Given the description of an element on the screen output the (x, y) to click on. 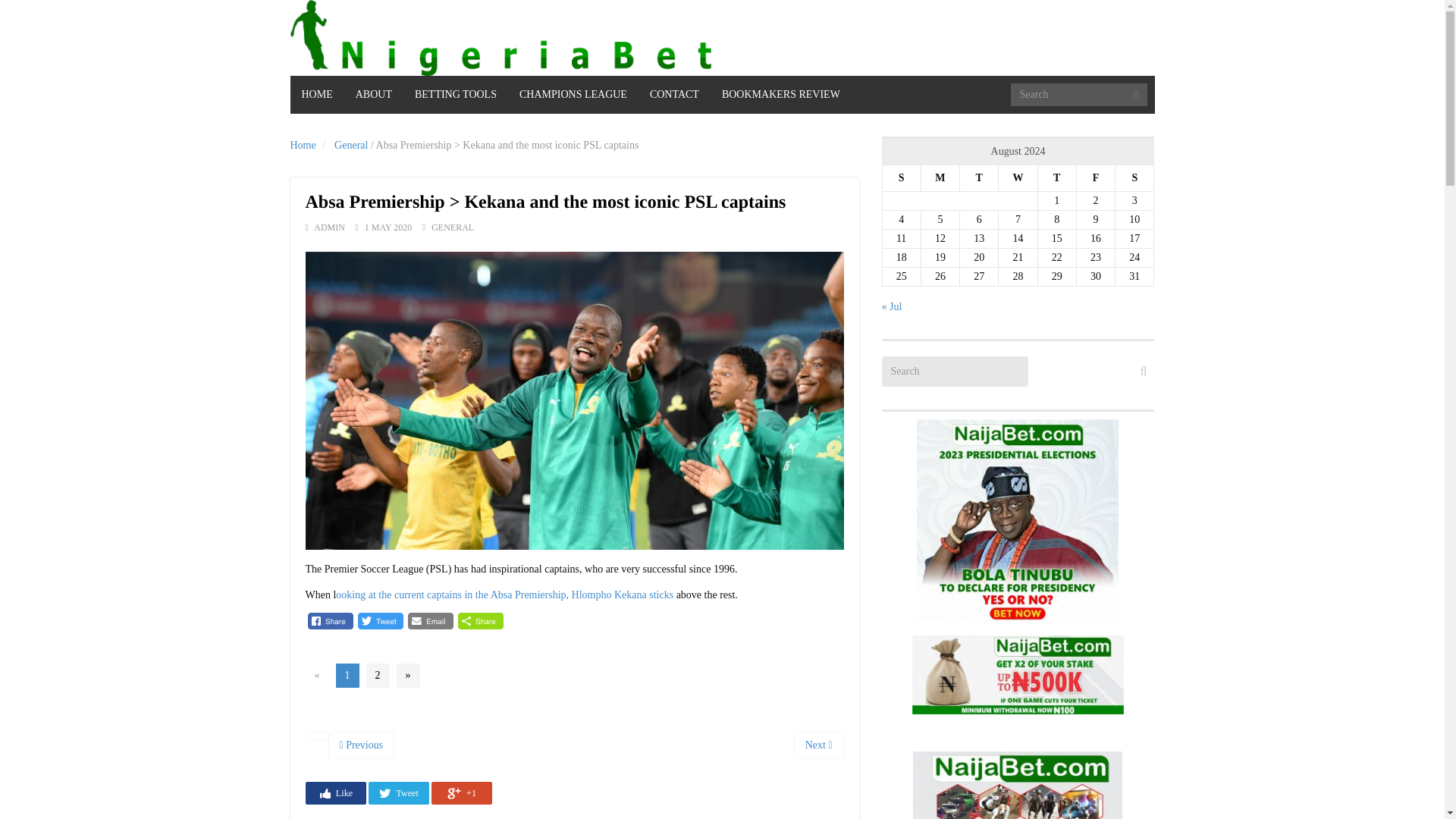
Tuesday (978, 178)
Saturday (1134, 178)
CONTACT (674, 94)
HOME (316, 94)
Previous (360, 745)
Share on Google Plus (461, 793)
BOOKMAKERS REVIEW (780, 94)
Thursday (1055, 178)
Monday (939, 178)
CHAMPIONS LEAGUE (573, 94)
